Given the description of an element on the screen output the (x, y) to click on. 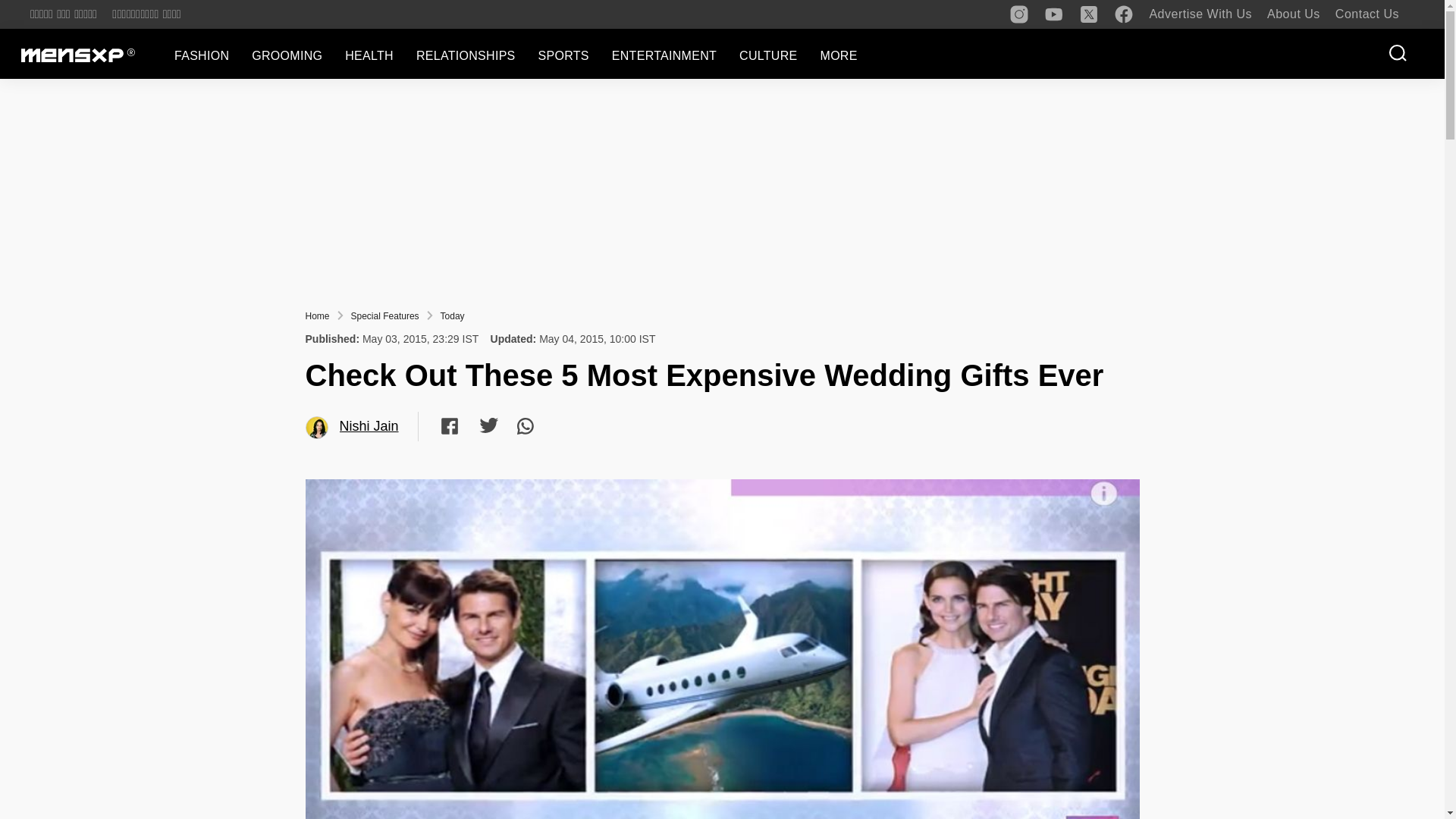
Contact Us  (1367, 13)
Home (316, 316)
Today (452, 316)
Special Features (384, 316)
Nishi Jain (317, 427)
About Us (1293, 13)
About Us (1293, 13)
Advertise With Us (1200, 13)
Contact Us (1367, 13)
